Given the description of an element on the screen output the (x, y) to click on. 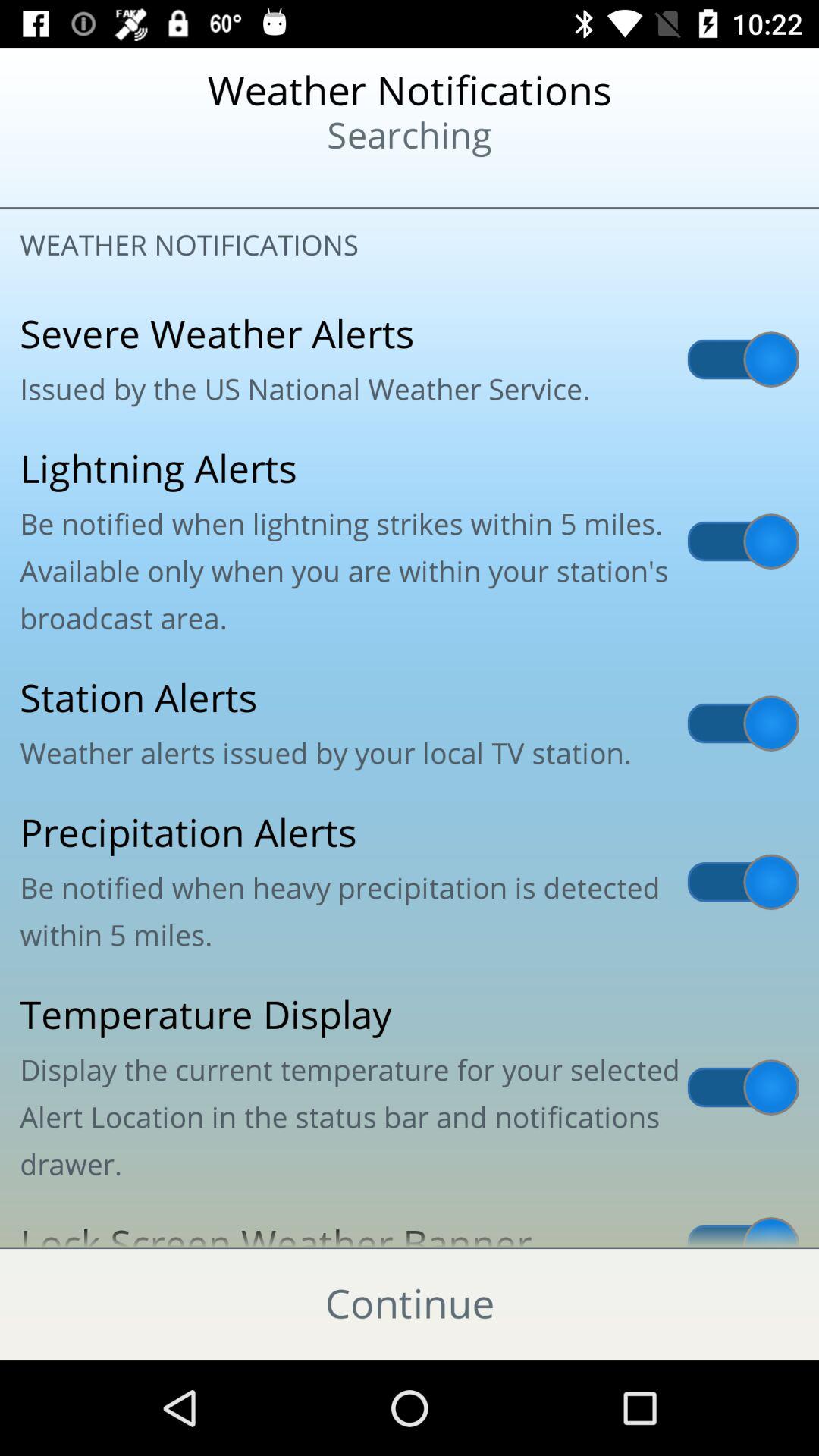
select the item above the lock screen weather icon (409, 1087)
